Given the description of an element on the screen output the (x, y) to click on. 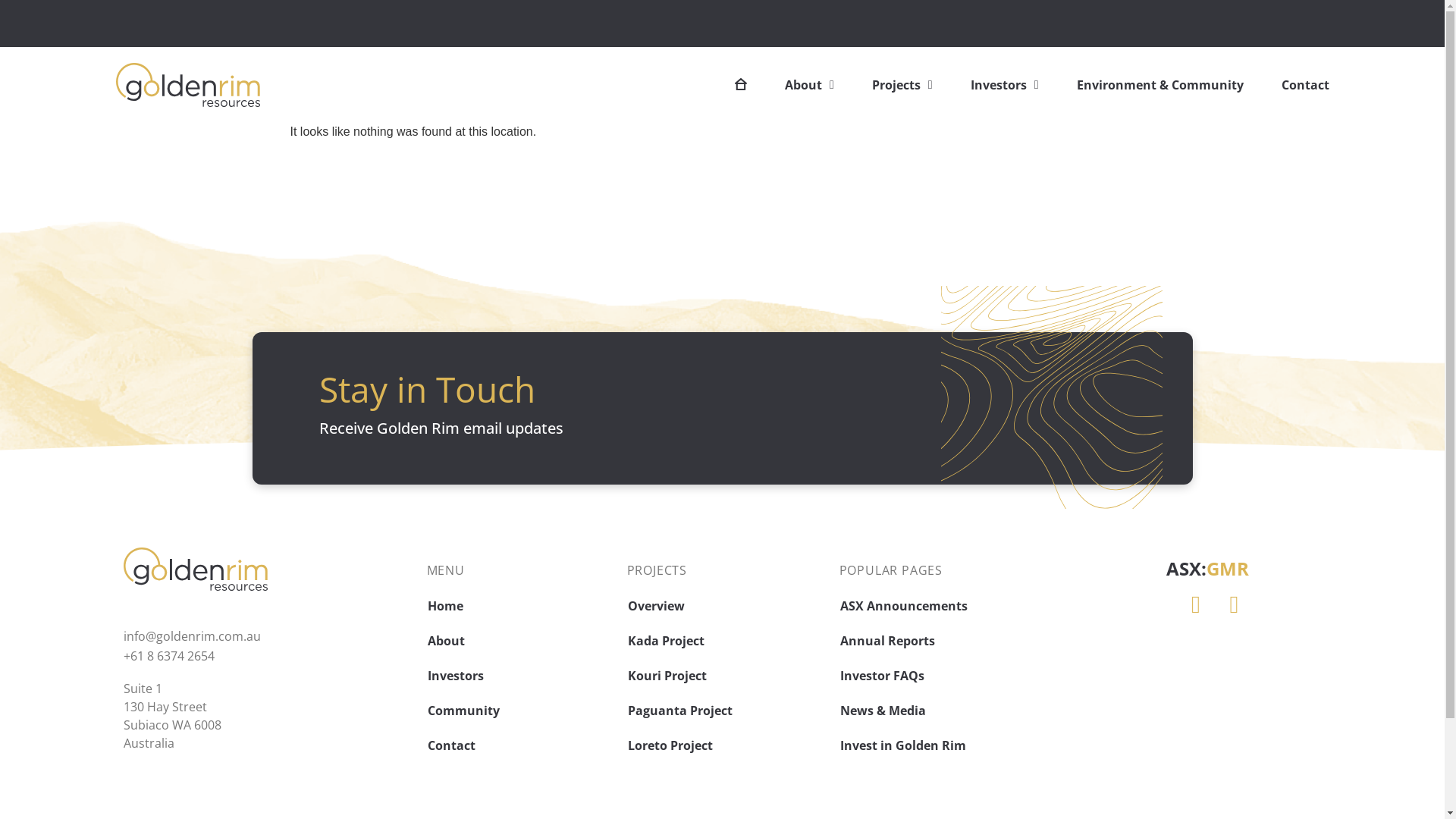
Home Element type: text (518, 605)
Community Element type: text (518, 710)
Annual Reports Element type: text (936, 640)
Investor FAQs Element type: text (936, 675)
About Element type: text (809, 84)
About Element type: text (518, 640)
Projects Element type: text (902, 84)
ASX Announcements Element type: text (936, 605)
Investors Element type: text (1004, 84)
Paguanta Project Element type: text (724, 710)
Overview Element type: text (724, 605)
Contact Element type: text (518, 745)
Invest in Golden Rim Element type: text (936, 745)
Environment & Community Element type: text (1159, 84)
Contact Element type: text (1305, 84)
Loreto Project Element type: text (724, 745)
News & Media Element type: text (936, 710)
Kouri Project Element type: text (724, 675)
Kada Project Element type: text (724, 640)
Investors Element type: text (518, 675)
